Given the description of an element on the screen output the (x, y) to click on. 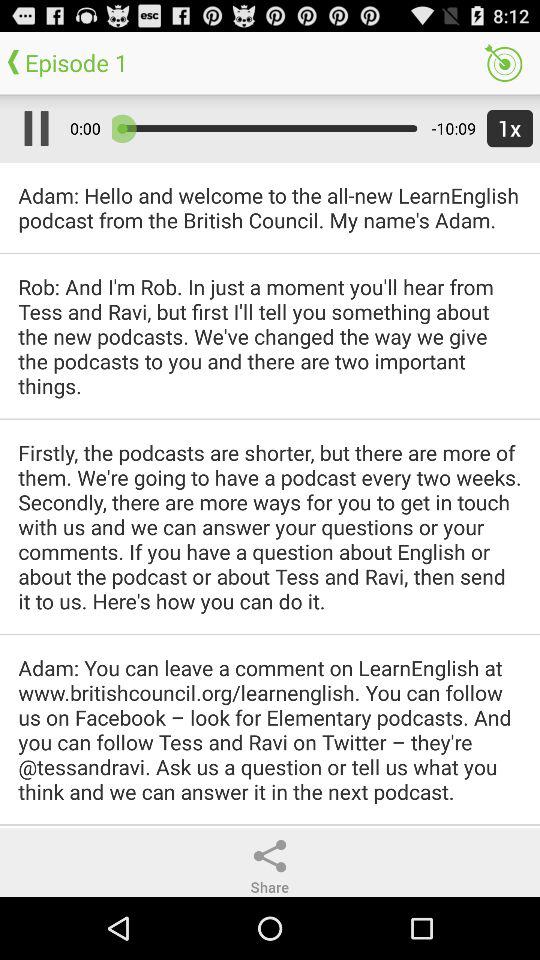
select the item below rob and i item (270, 526)
